Given the description of an element on the screen output the (x, y) to click on. 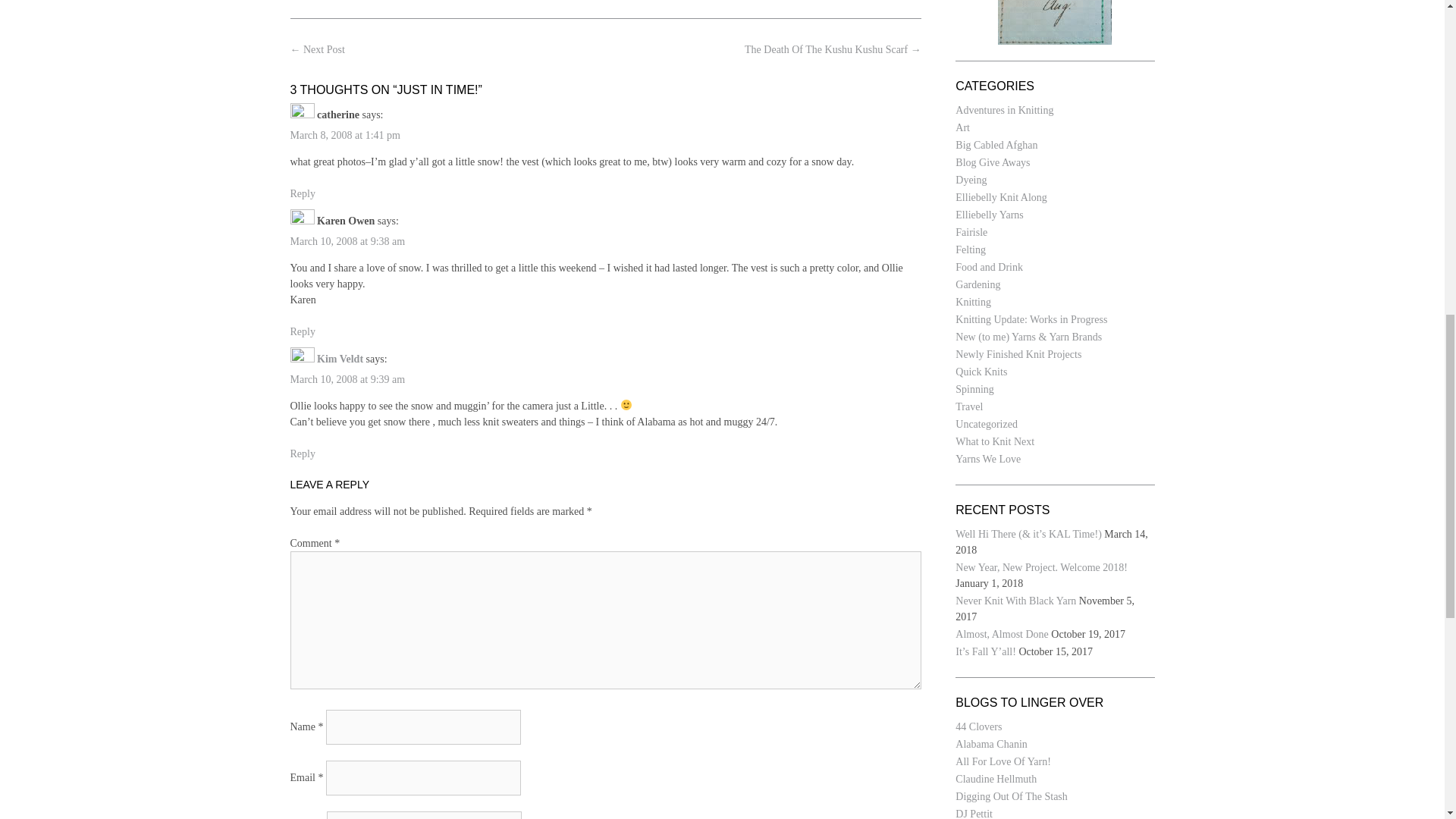
Big Cabled Afghan (995, 144)
March 8, 2008 at 1:41 pm (343, 134)
Reply (301, 453)
Reply (301, 193)
March 10, 2008 at 9:38 am (346, 241)
Reply (301, 331)
Kim Veldt (339, 358)
Art (962, 127)
Adventures in Knitting (1003, 110)
Blog Give Aways (992, 162)
March 10, 2008 at 9:39 am (346, 378)
